Given the description of an element on the screen output the (x, y) to click on. 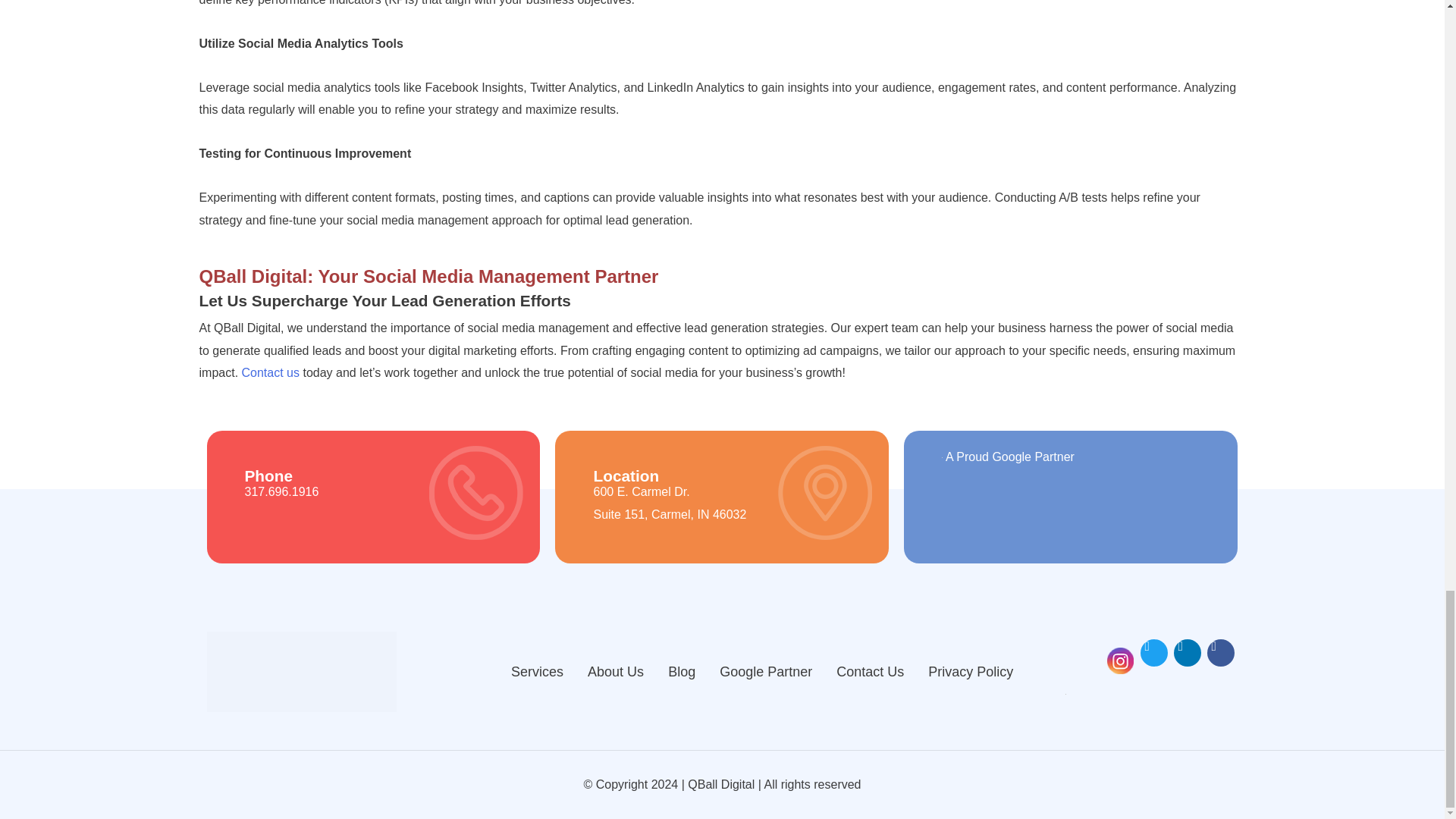
Google Partner (765, 671)
Privacy Policy (970, 671)
About Us (615, 671)
Services (537, 671)
Contact us (270, 372)
Blog (681, 671)
Contact Us (869, 671)
317.696.1916 (281, 491)
